Given the description of an element on the screen output the (x, y) to click on. 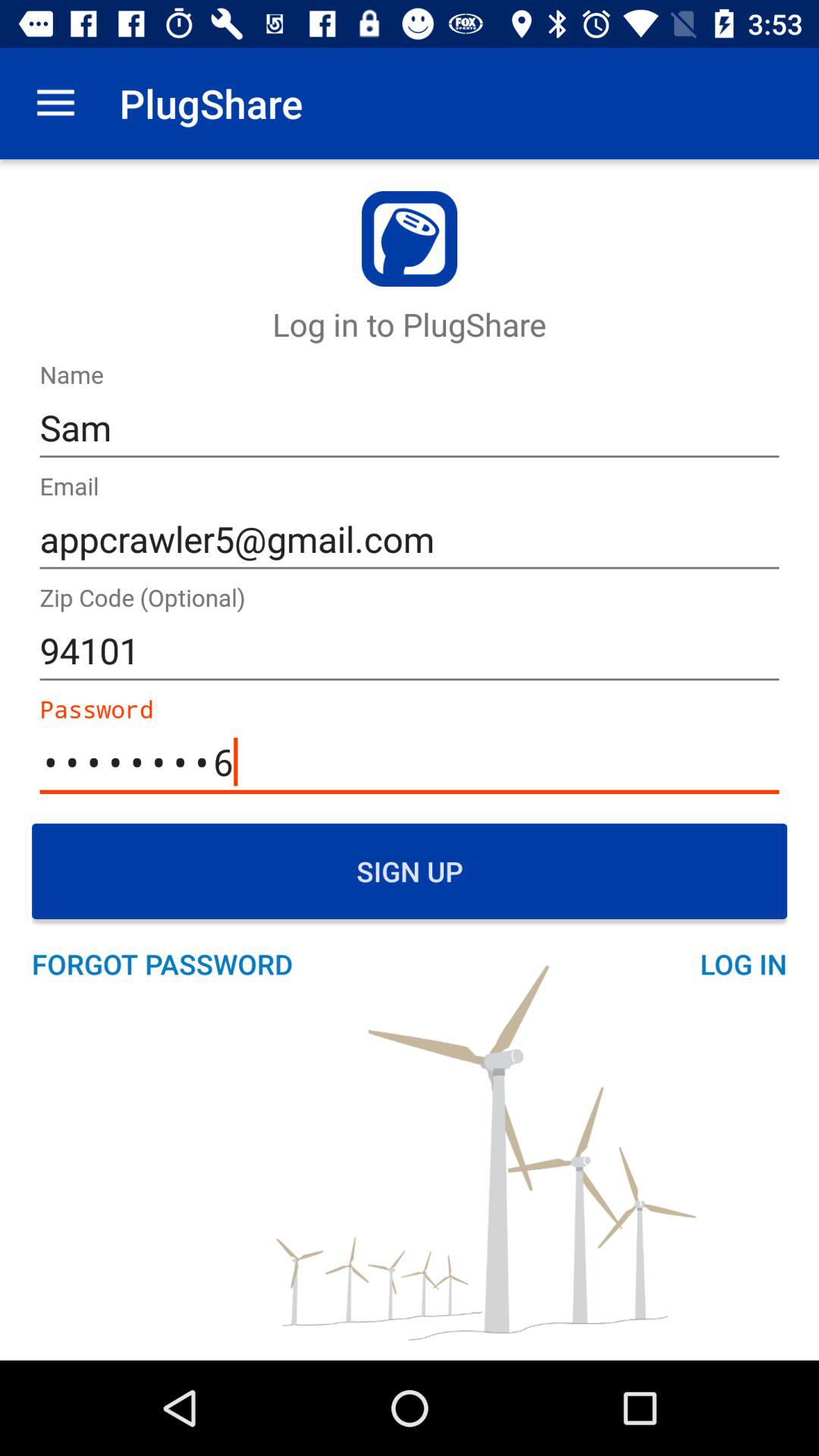
choose icon above forgot password (409, 871)
